Given the description of an element on the screen output the (x, y) to click on. 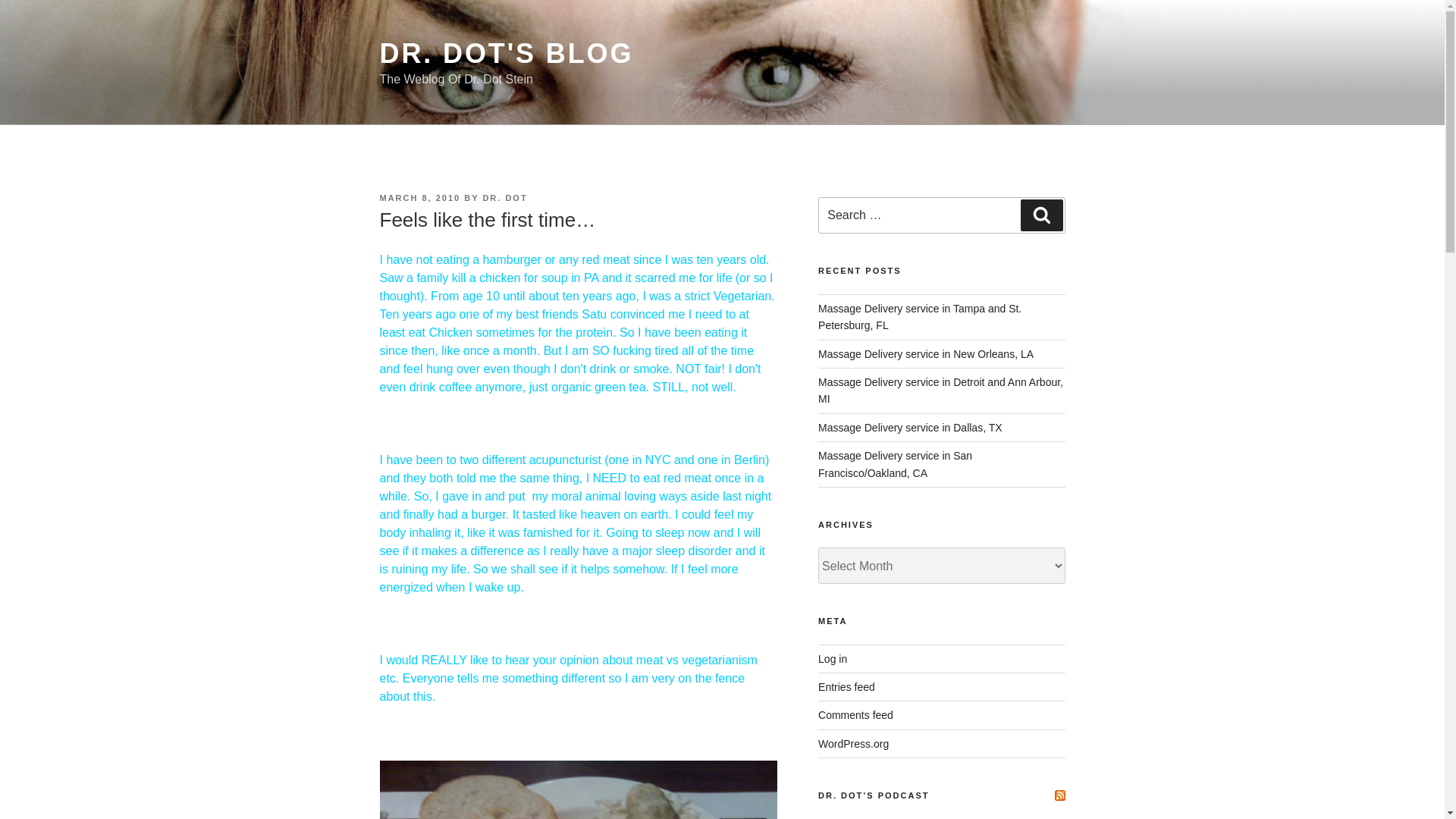
MARCH 8, 2010 (419, 197)
DR. DOT (504, 197)
Comments feed (855, 715)
DR. DOT'S BLOG (505, 52)
Massage Delivery service in New Orleans, LA (925, 354)
Search (1041, 214)
Massage Delivery service in Dallas, TX (910, 427)
Massage Delivery service in Detroit and Ann Arbour, MI (940, 389)
WordPress.org (853, 743)
Entries feed (846, 686)
72750897.jpg (577, 789)
Massage Delivery service in Tampa and St. Petersburg, FL (920, 316)
Log in (832, 658)
